Given the description of an element on the screen output the (x, y) to click on. 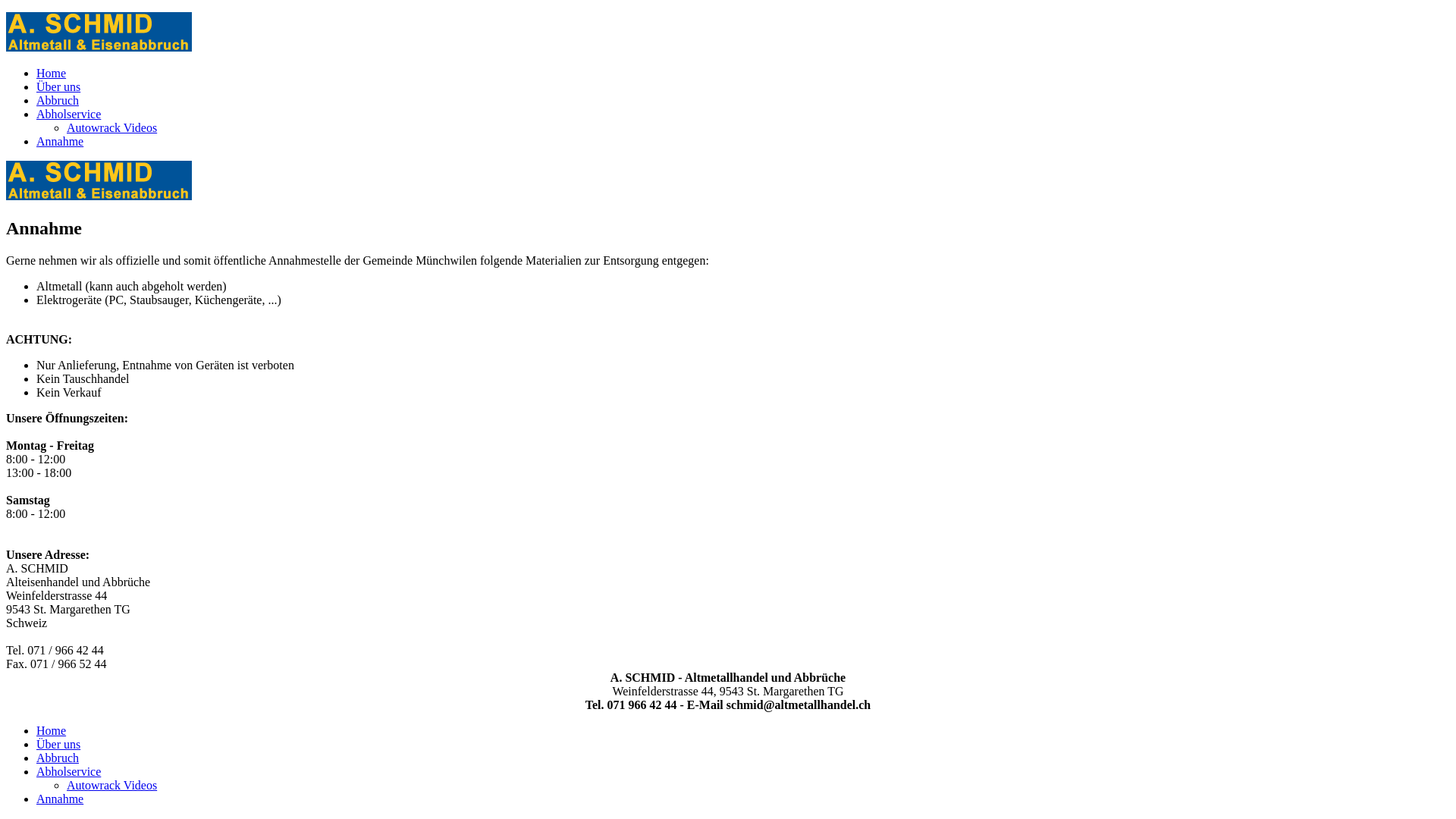
Abbruch Element type: text (57, 757)
Annahme Element type: text (59, 798)
Home Element type: text (50, 72)
Abholservice Element type: text (68, 113)
Autowrack Videos Element type: text (111, 127)
Autowrack Videos Element type: text (111, 784)
Home Element type: text (50, 730)
Abbruch Element type: text (57, 100)
Annahme Element type: text (59, 140)
Abholservice Element type: text (68, 771)
